Given the description of an element on the screen output the (x, y) to click on. 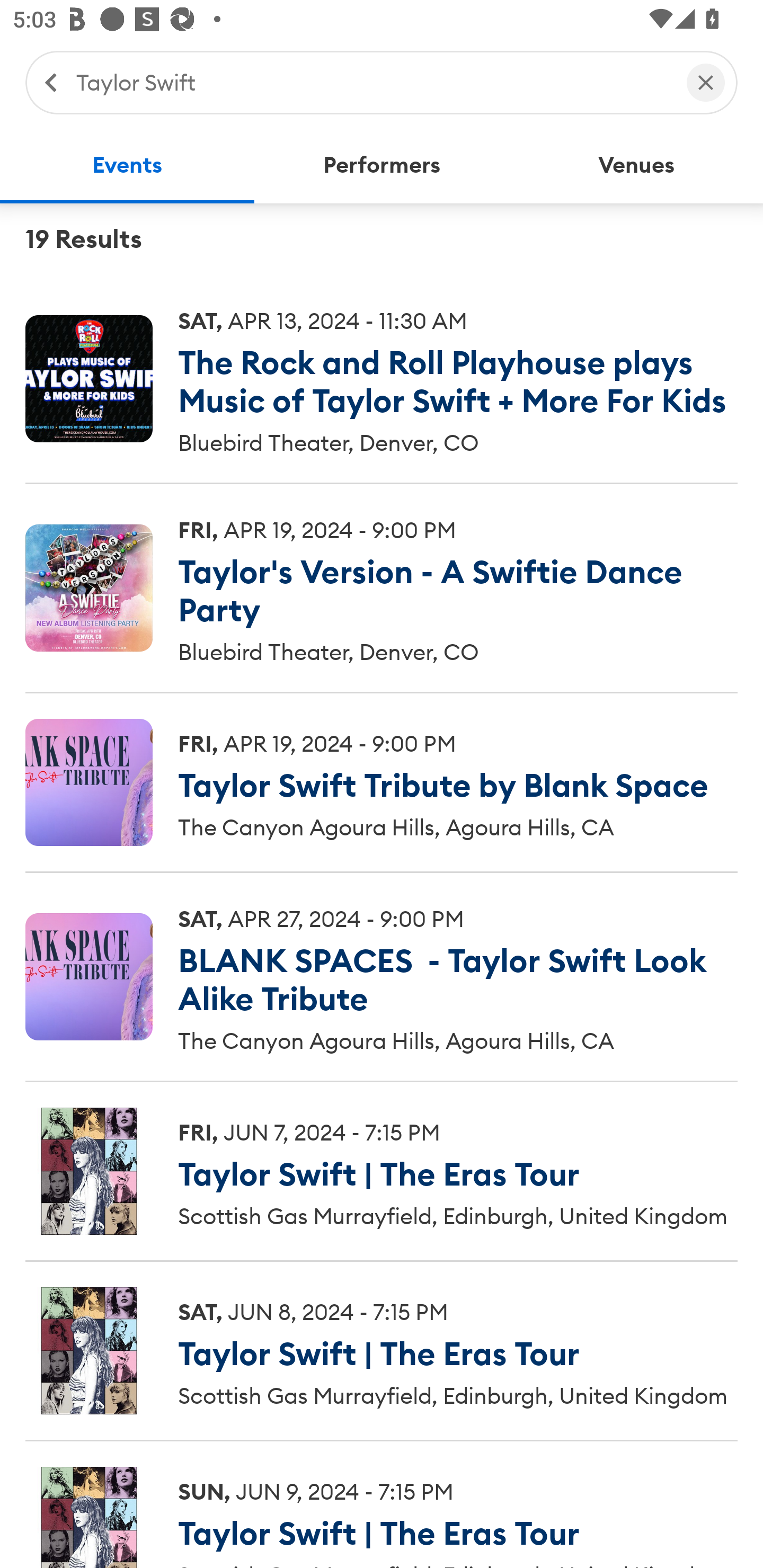
Taylor Swift (371, 81)
Clear Search (705, 81)
Performers (381, 165)
Venues (635, 165)
